Given the description of an element on the screen output the (x, y) to click on. 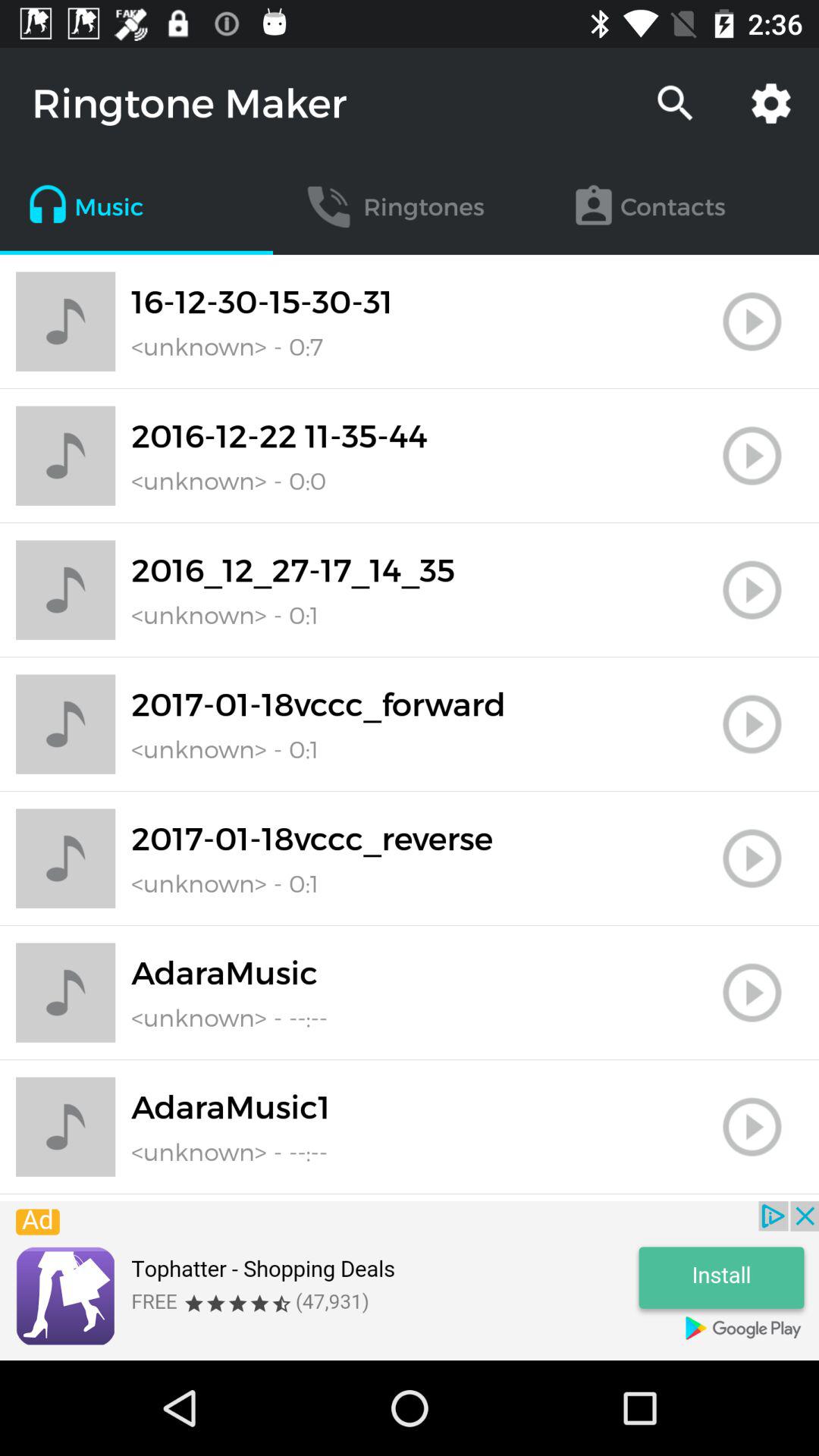
play user (752, 992)
